Given the description of an element on the screen output the (x, y) to click on. 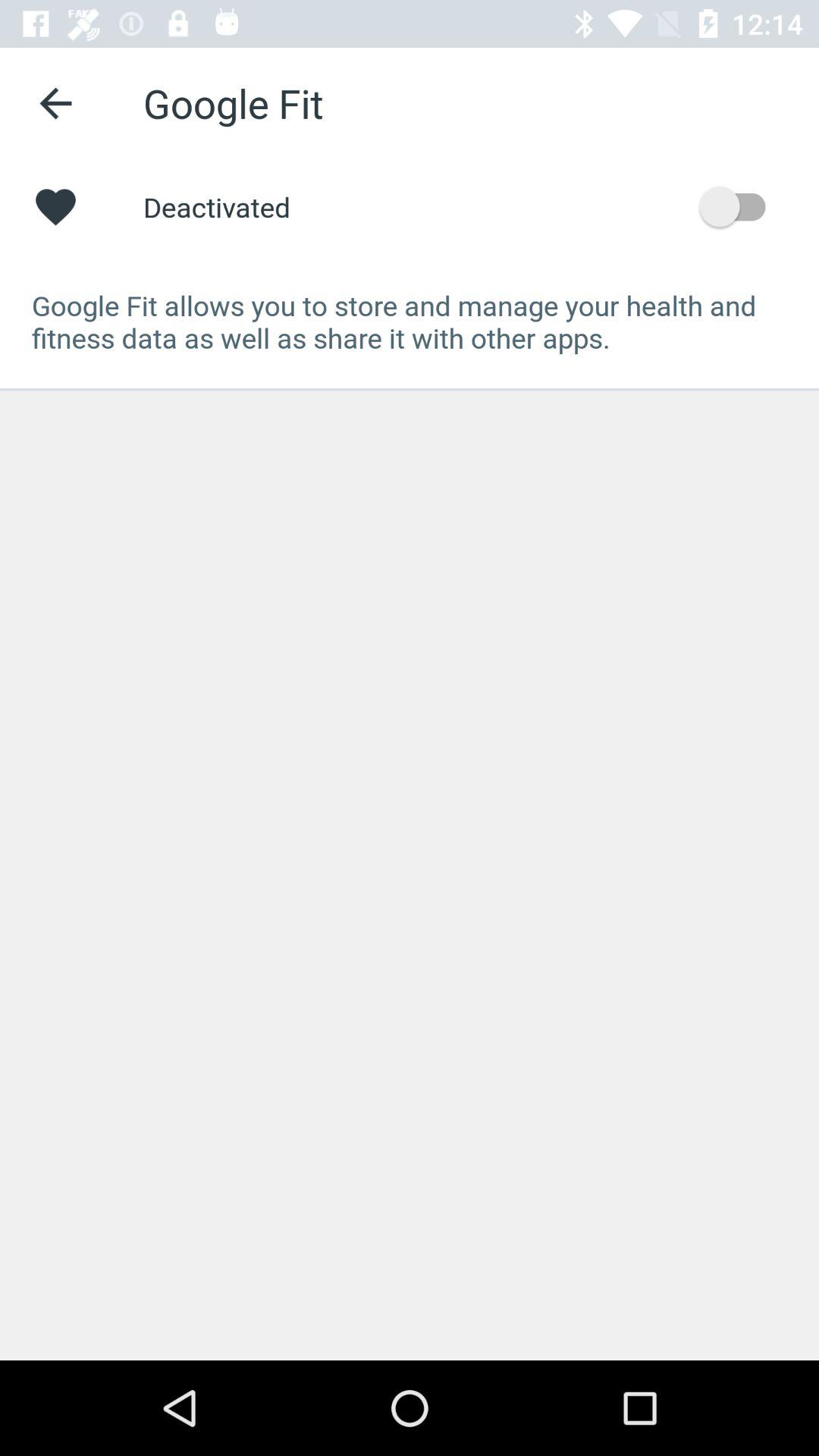
choose the item at the top right corner (739, 206)
